Given the description of an element on the screen output the (x, y) to click on. 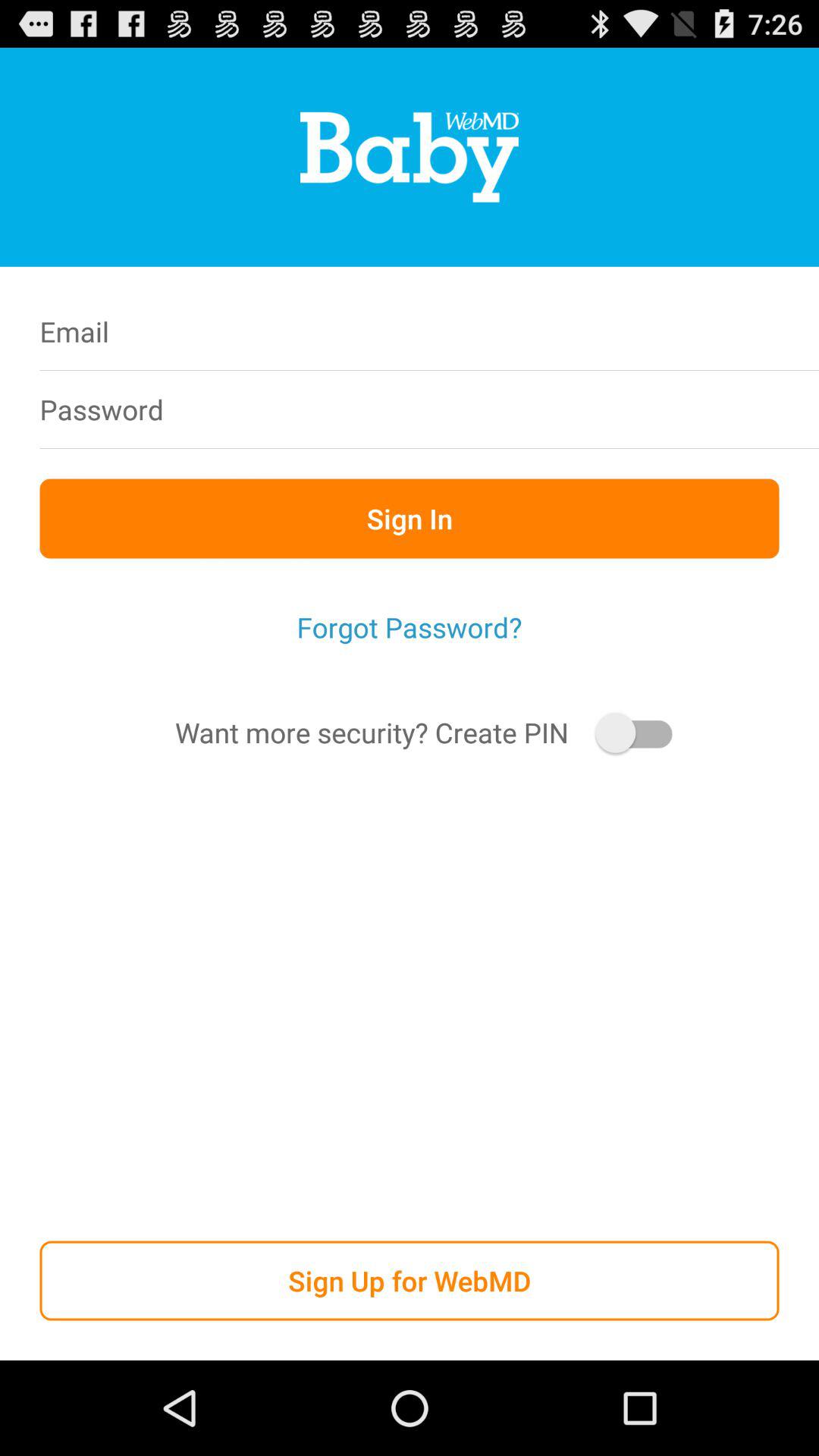
tap item to the right of email item (507, 331)
